Given the description of an element on the screen output the (x, y) to click on. 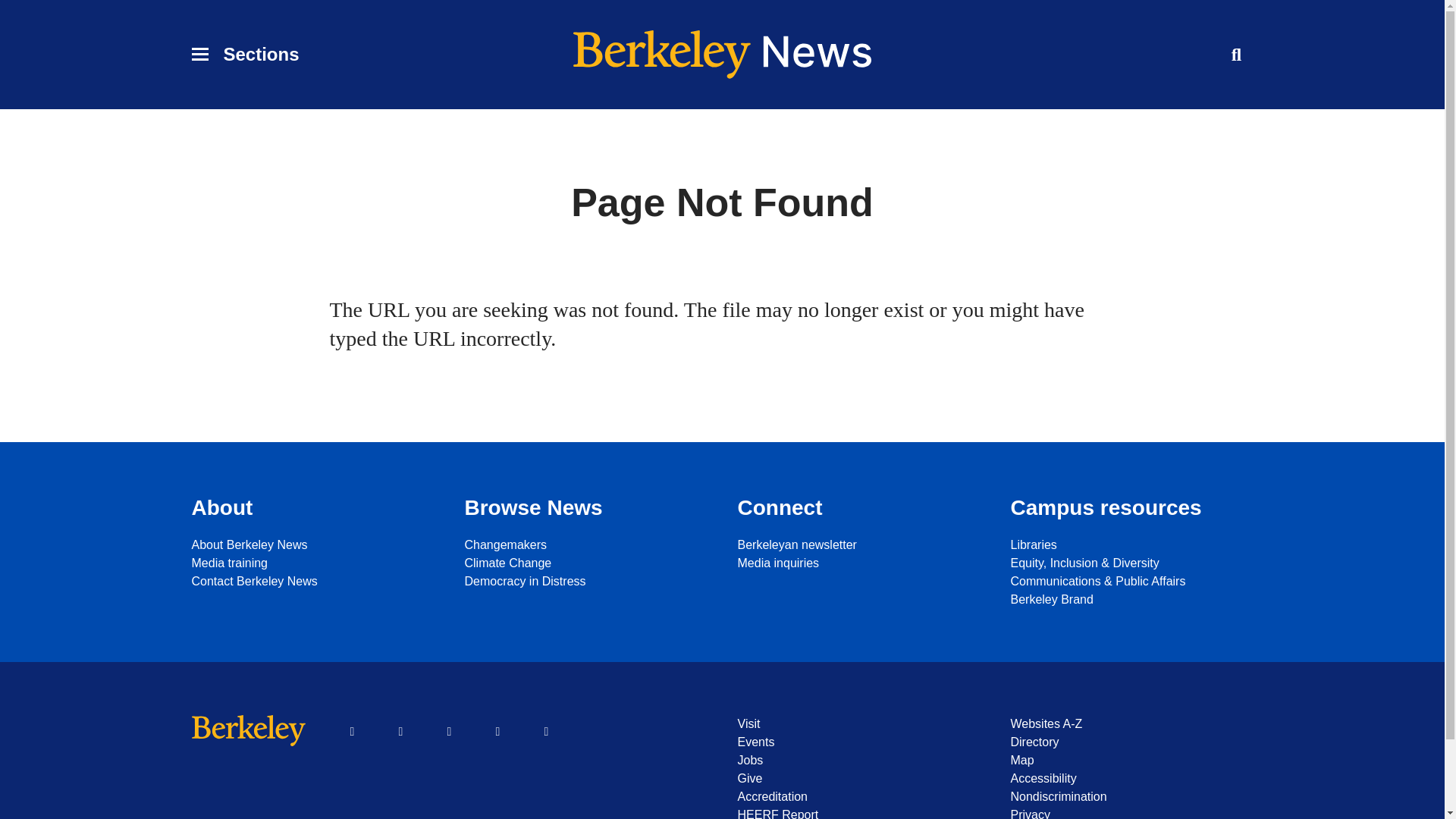
Medium (545, 731)
Accreditation (857, 796)
Map (1131, 760)
HEERF Report (857, 812)
Climate Change (585, 563)
Instagram (496, 731)
Facebook (351, 731)
Expand Search Form (1236, 54)
Directory (1131, 742)
Nondiscrimination (1131, 796)
Privacy (1131, 812)
Jobs (857, 760)
About Berkeley News (311, 545)
Berkeley Brand (1131, 599)
Give (857, 778)
